Given the description of an element on the screen output the (x, y) to click on. 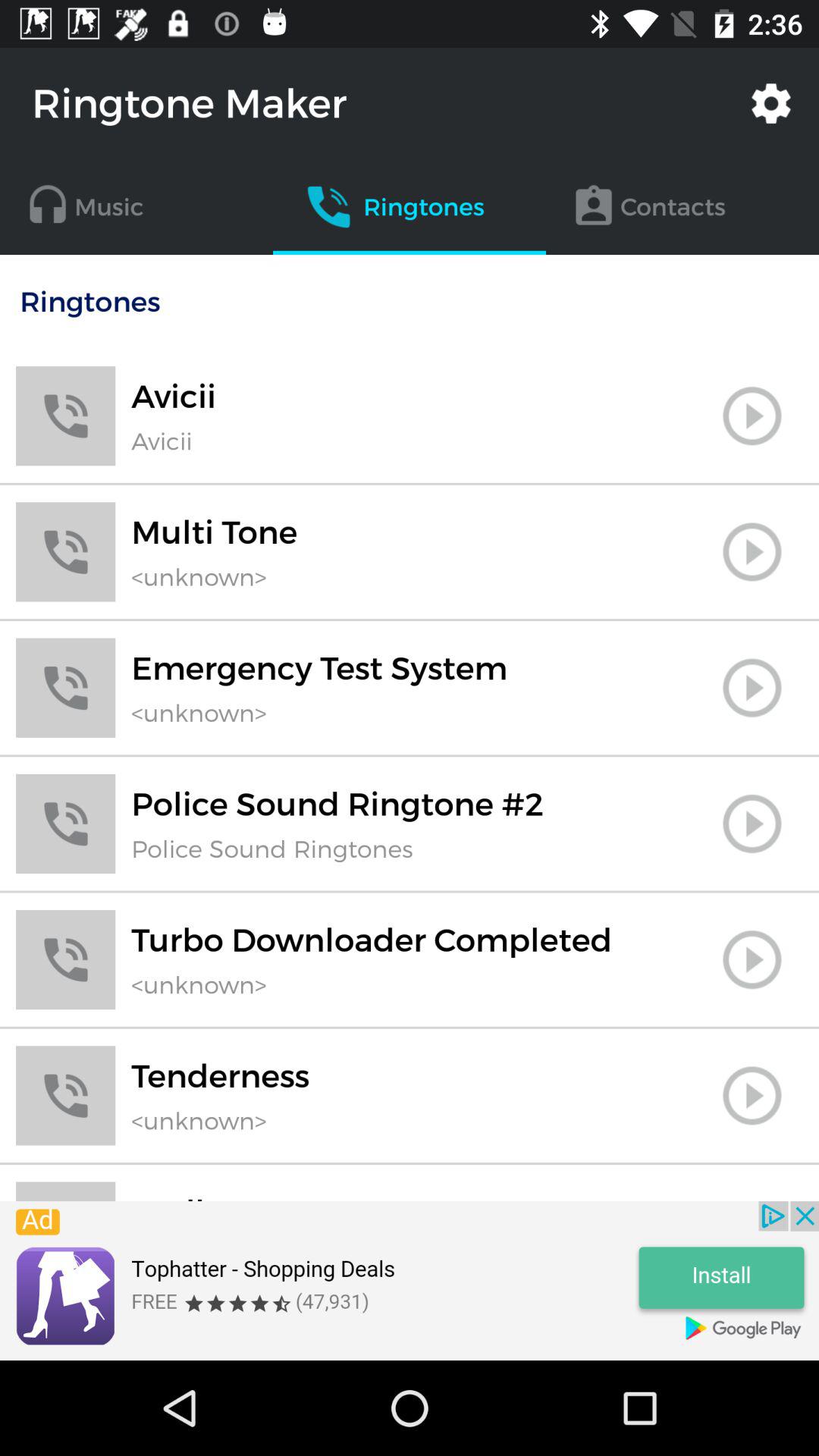
next button (752, 416)
